Given the description of an element on the screen output the (x, y) to click on. 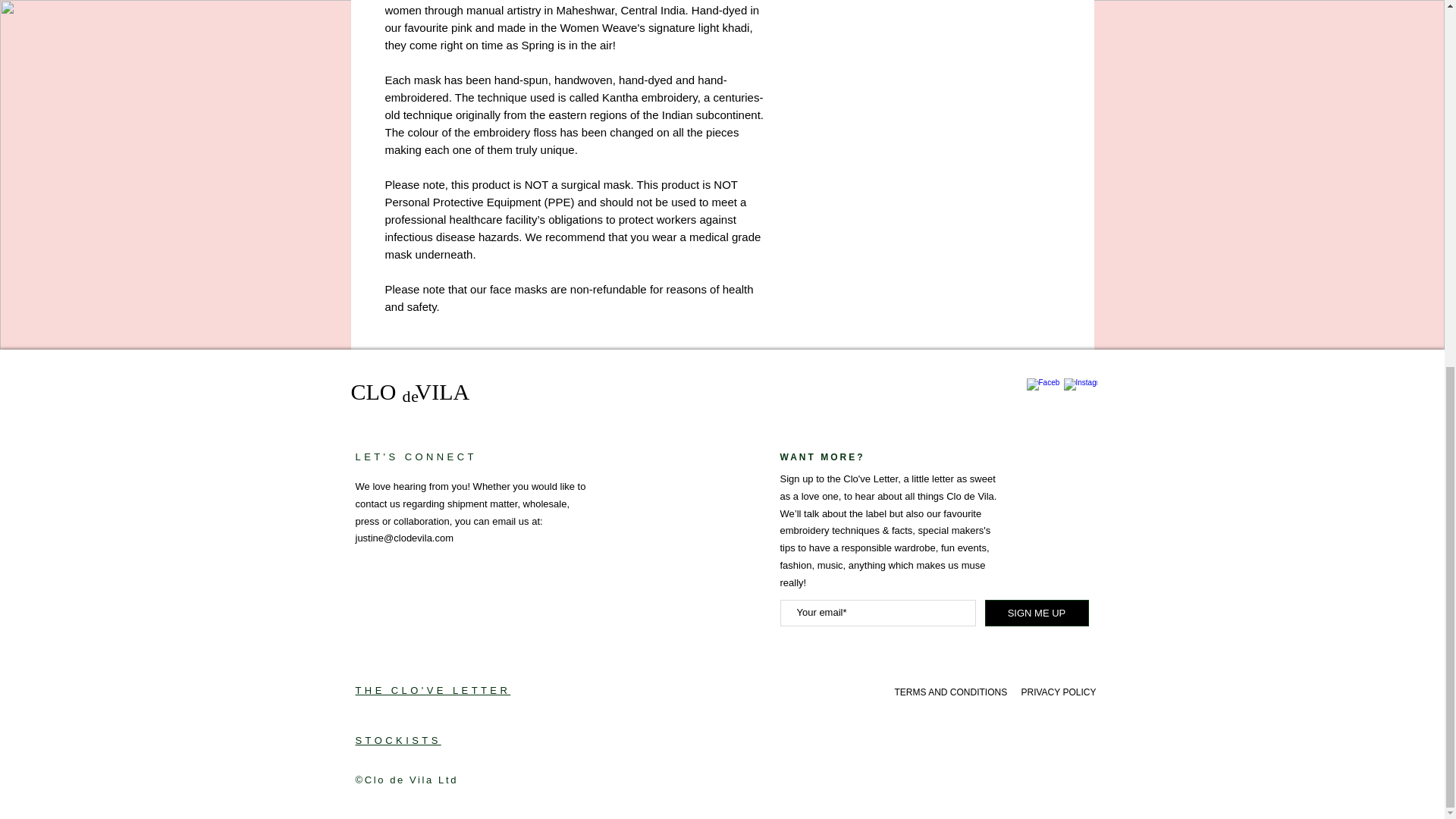
THE CLO'VE LETTER (433, 690)
TERMS AND CONDITIONS (951, 692)
STOCKISTS (398, 740)
SIGN ME UP (1035, 612)
PRIVACY POLICY (1058, 692)
